Given the description of an element on the screen output the (x, y) to click on. 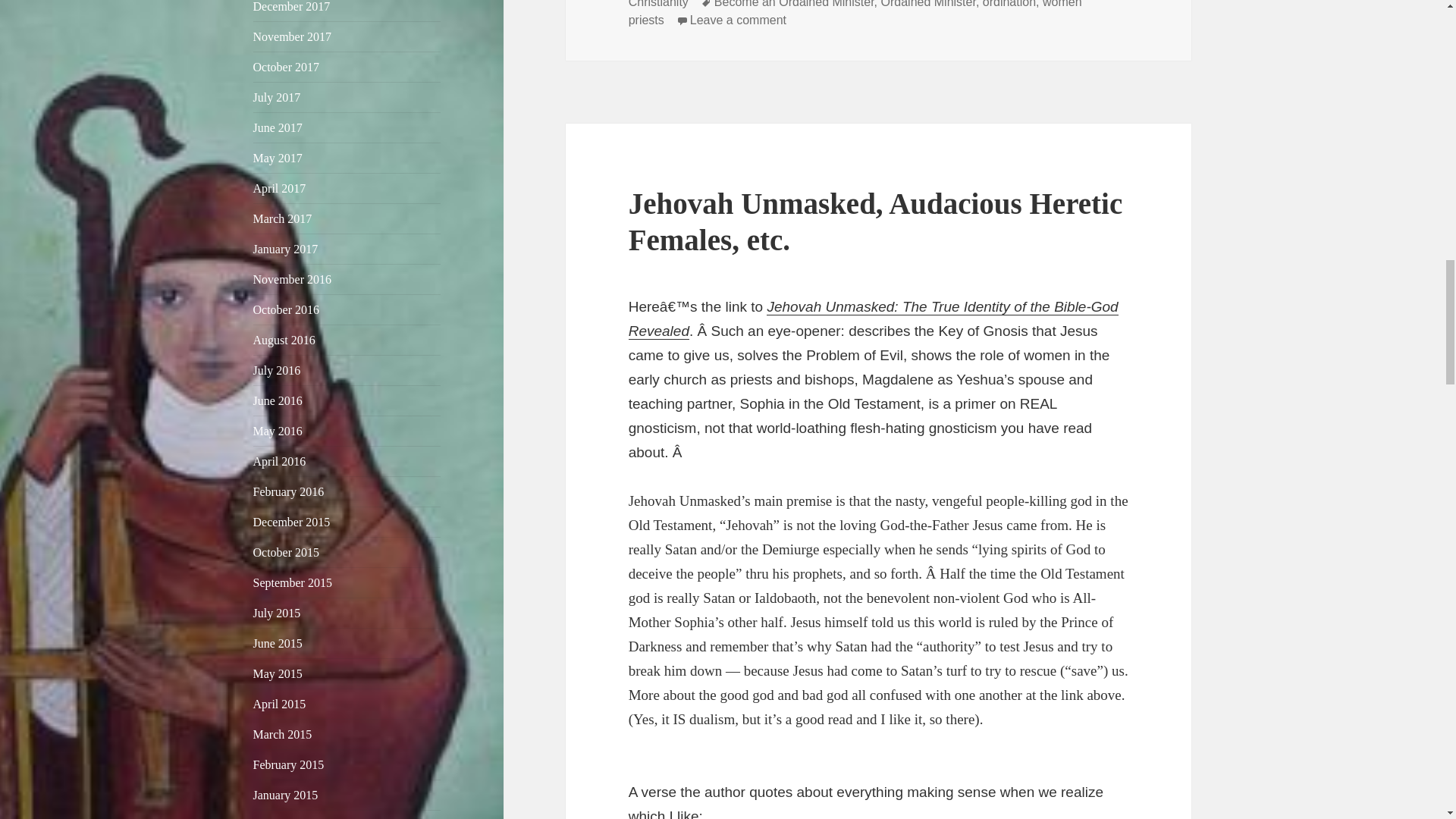
October 2017 (286, 66)
December 2017 (291, 6)
November 2017 (292, 36)
